Given the description of an element on the screen output the (x, y) to click on. 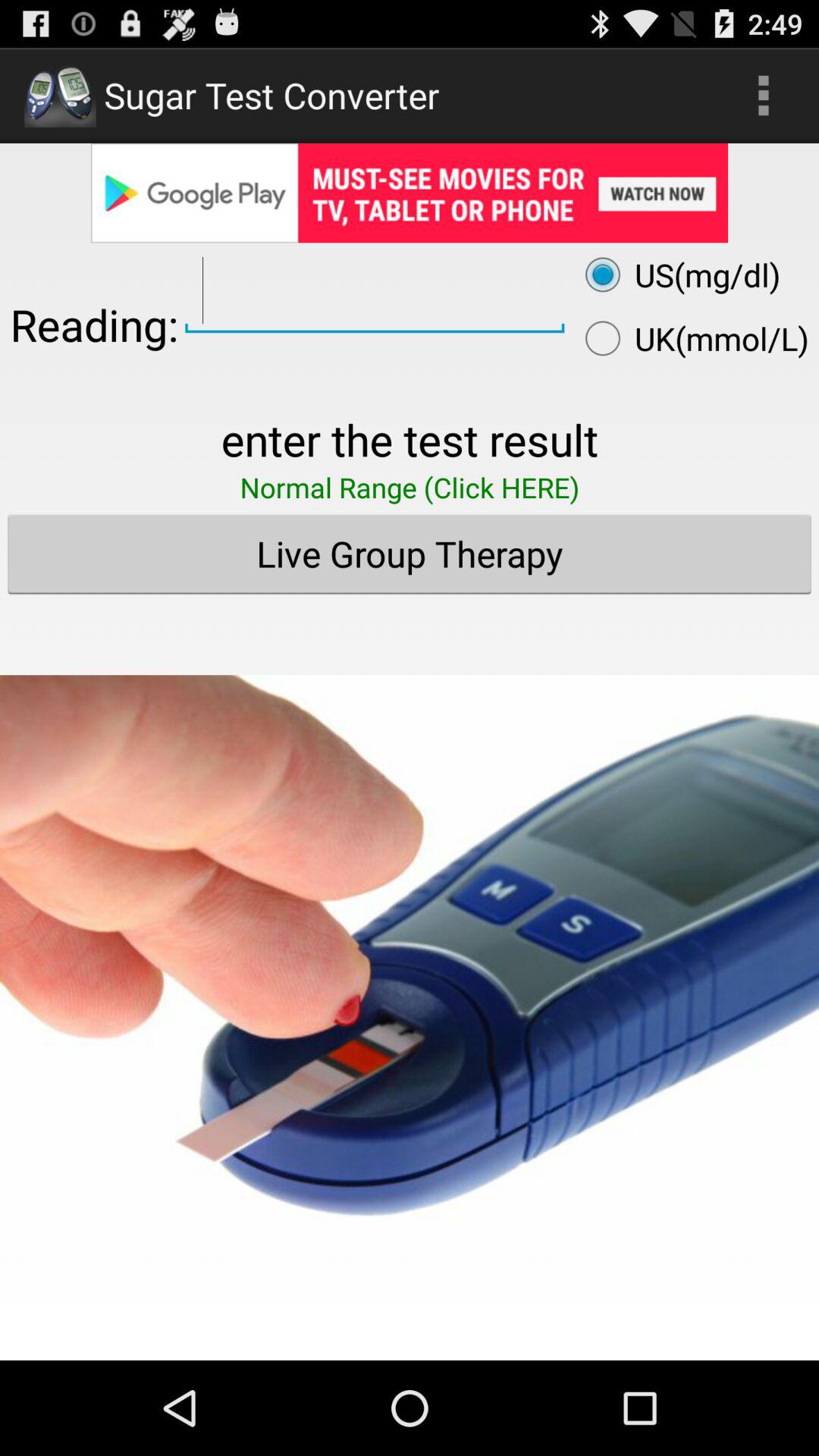
google play advertisement (409, 192)
